Given the description of an element on the screen output the (x, y) to click on. 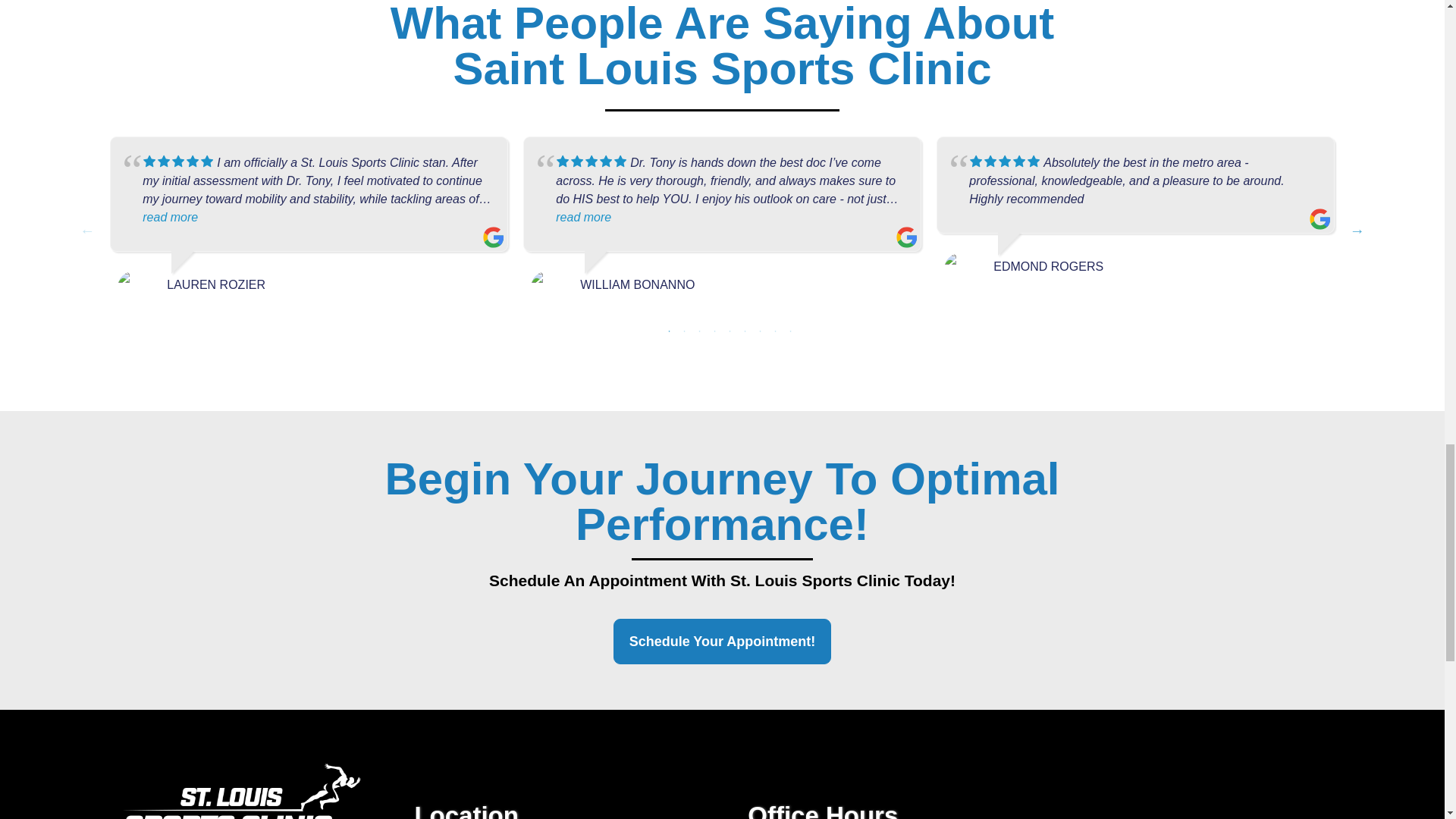
Previous (87, 230)
